Given the description of an element on the screen output the (x, y) to click on. 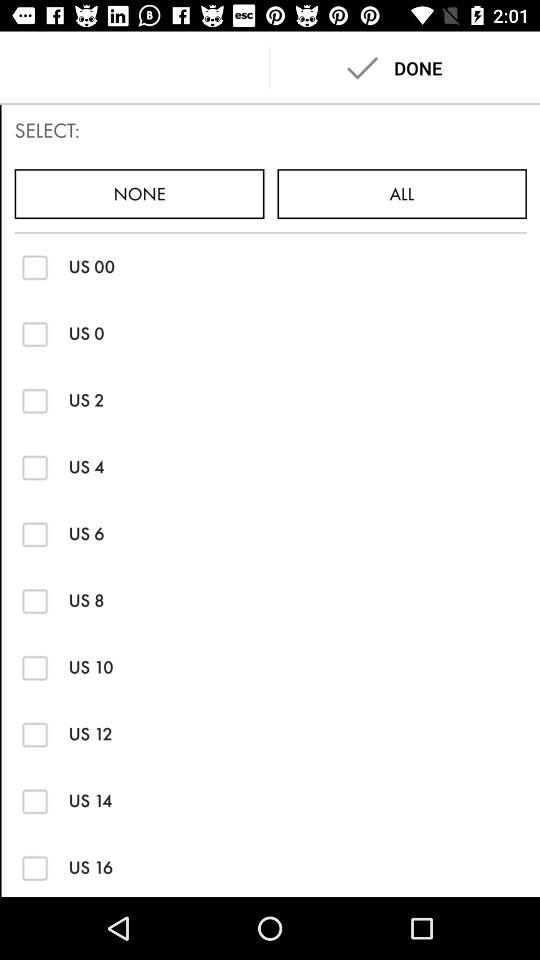
my select (34, 734)
